Given the description of an element on the screen output the (x, y) to click on. 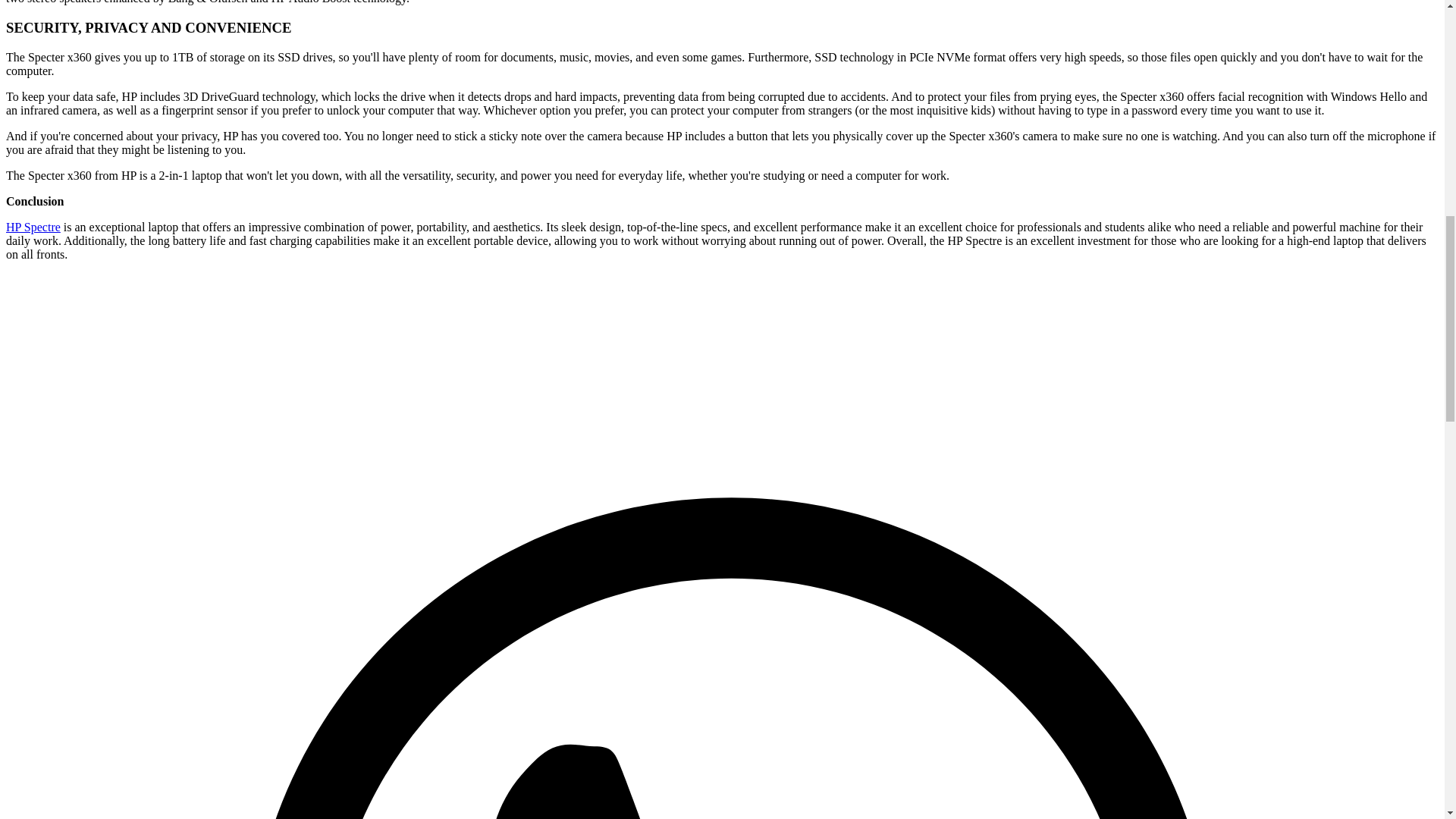
HP Spectre (33, 226)
